Given the description of an element on the screen output the (x, y) to click on. 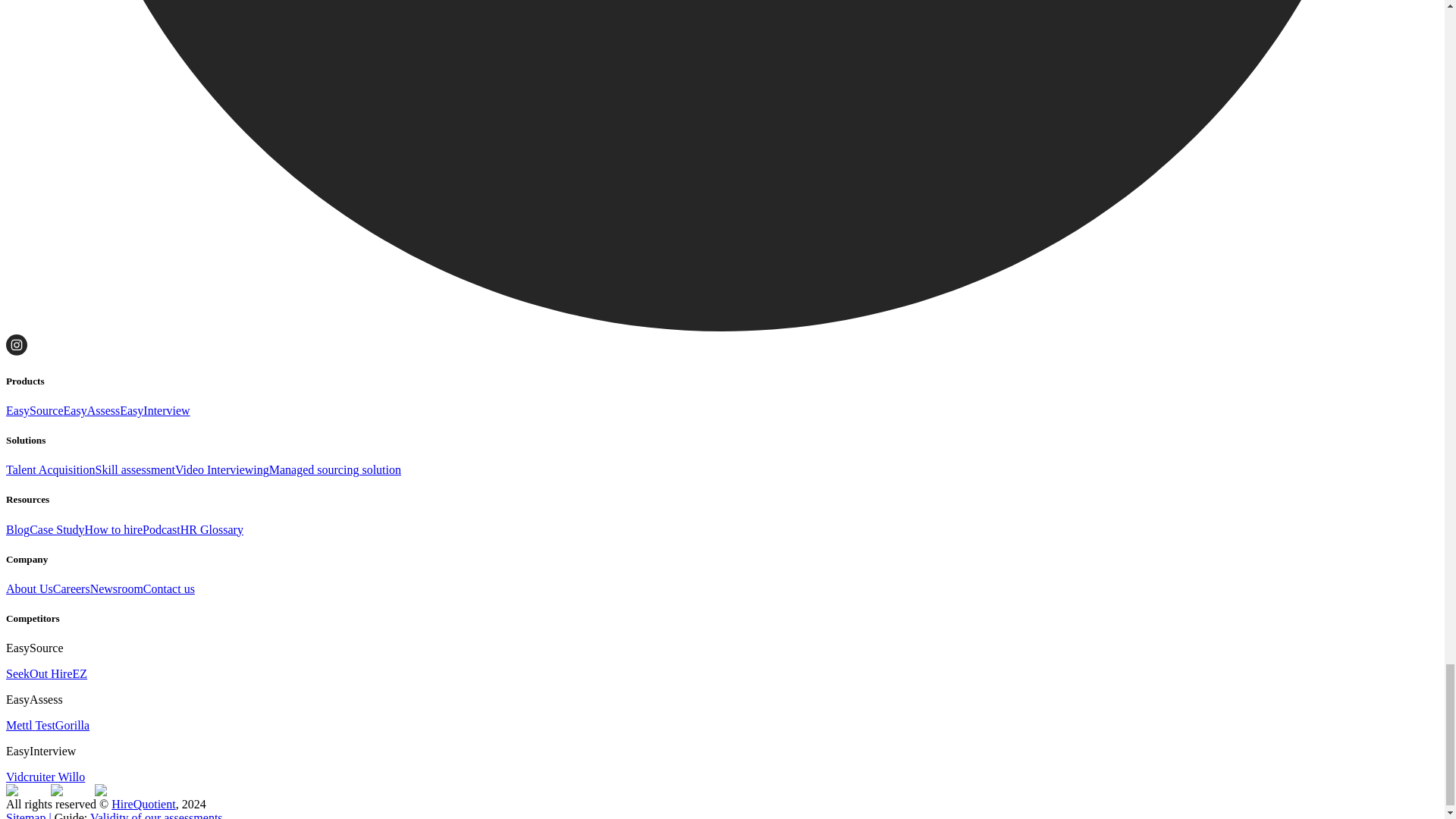
Podcast (161, 529)
EasyAssess (92, 410)
Blog (17, 529)
HireEZ (67, 673)
Newsroom (116, 588)
SeekOut (26, 673)
Managed sourcing solution (335, 469)
Contact us (168, 588)
HR Glossary (211, 529)
EasySource (34, 410)
